Given the description of an element on the screen output the (x, y) to click on. 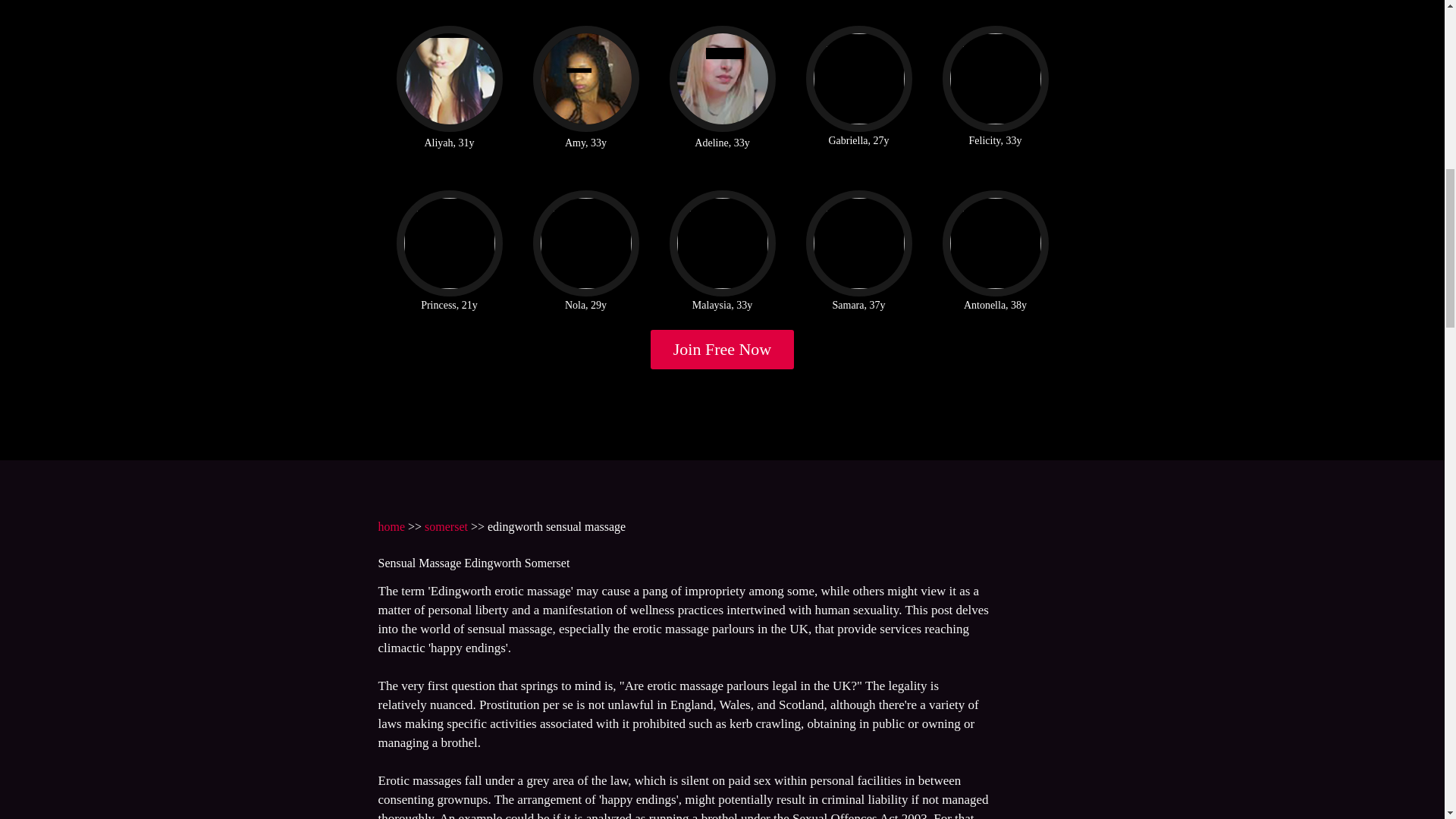
Join (722, 349)
home (390, 526)
Join Free Now (722, 349)
somerset (446, 526)
